Given the description of an element on the screen output the (x, y) to click on. 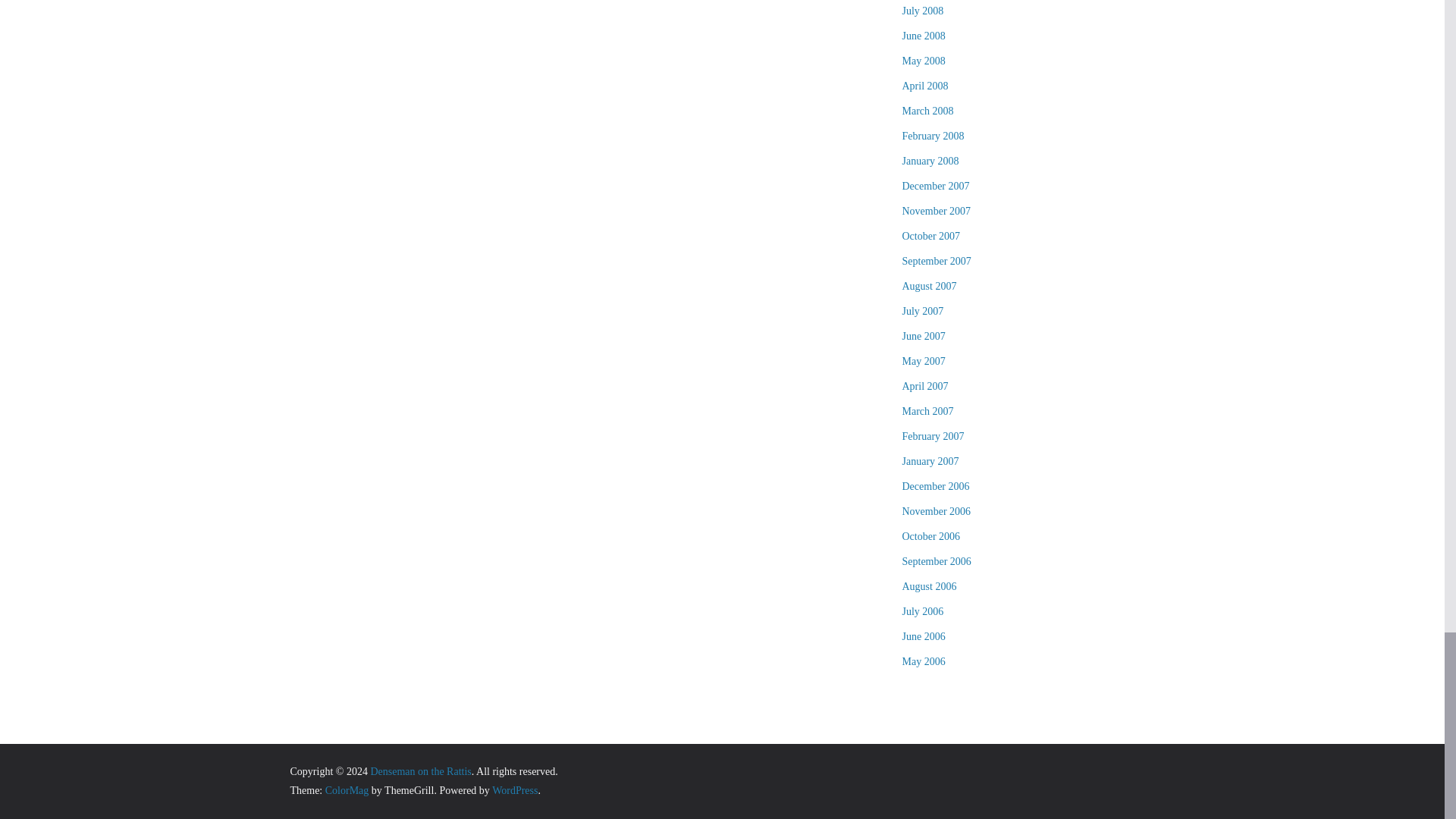
WordPress (514, 790)
ColorMag (346, 790)
Denseman on the Rattis (419, 771)
